Given the description of an element on the screen output the (x, y) to click on. 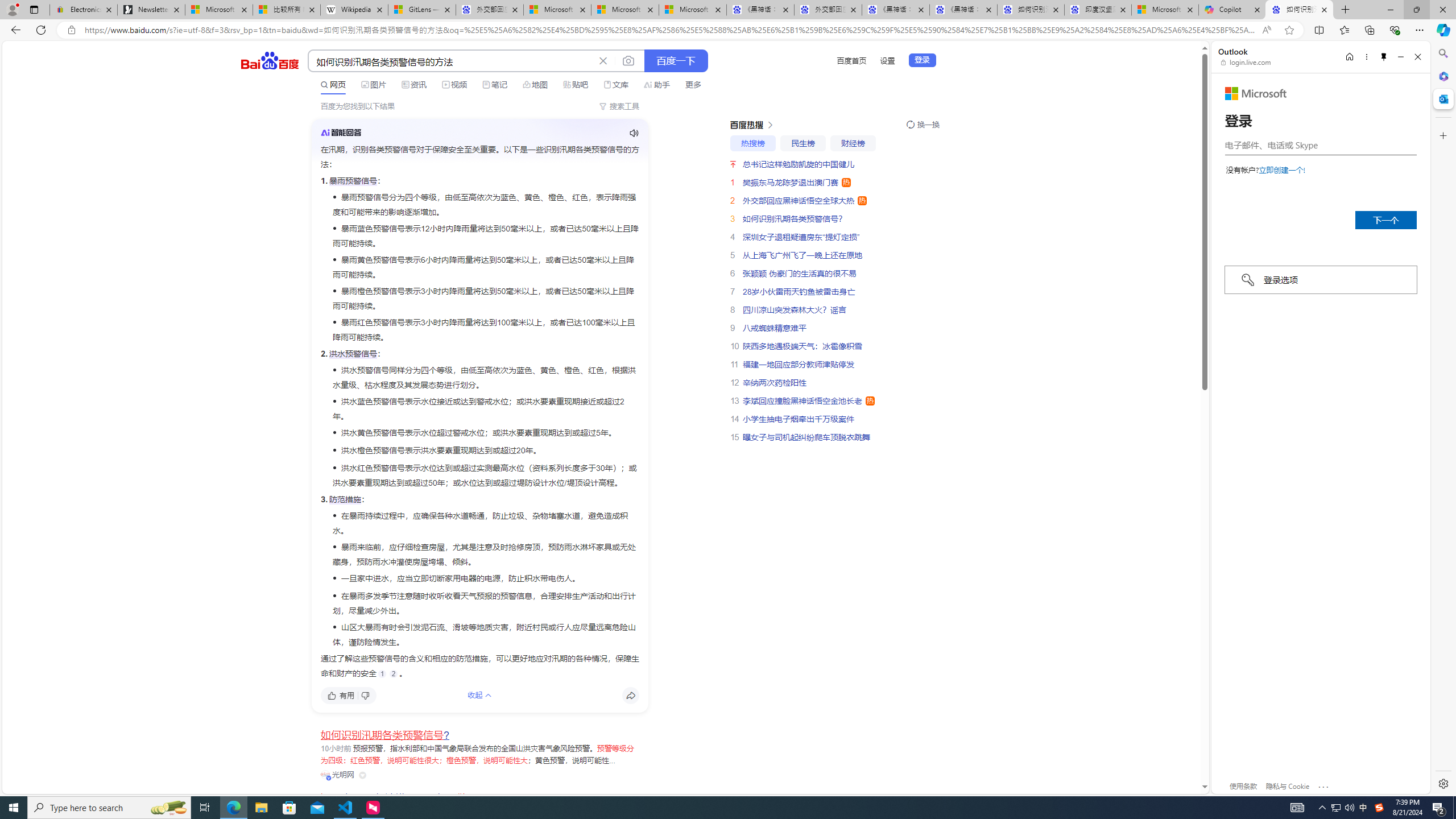
Side bar (1443, 418)
